Given the description of an element on the screen output the (x, y) to click on. 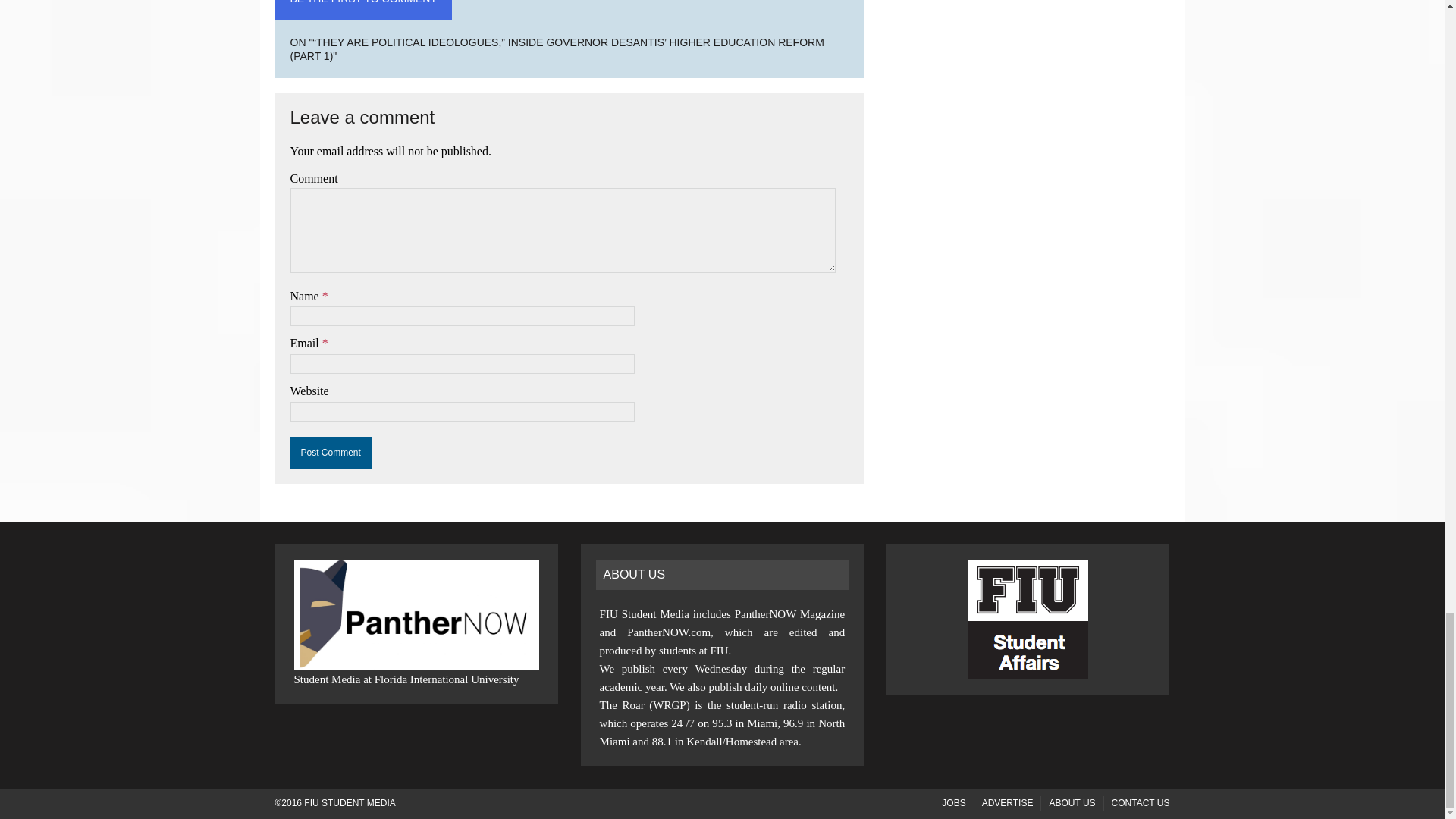
Post Comment (330, 452)
